Given the description of an element on the screen output the (x, y) to click on. 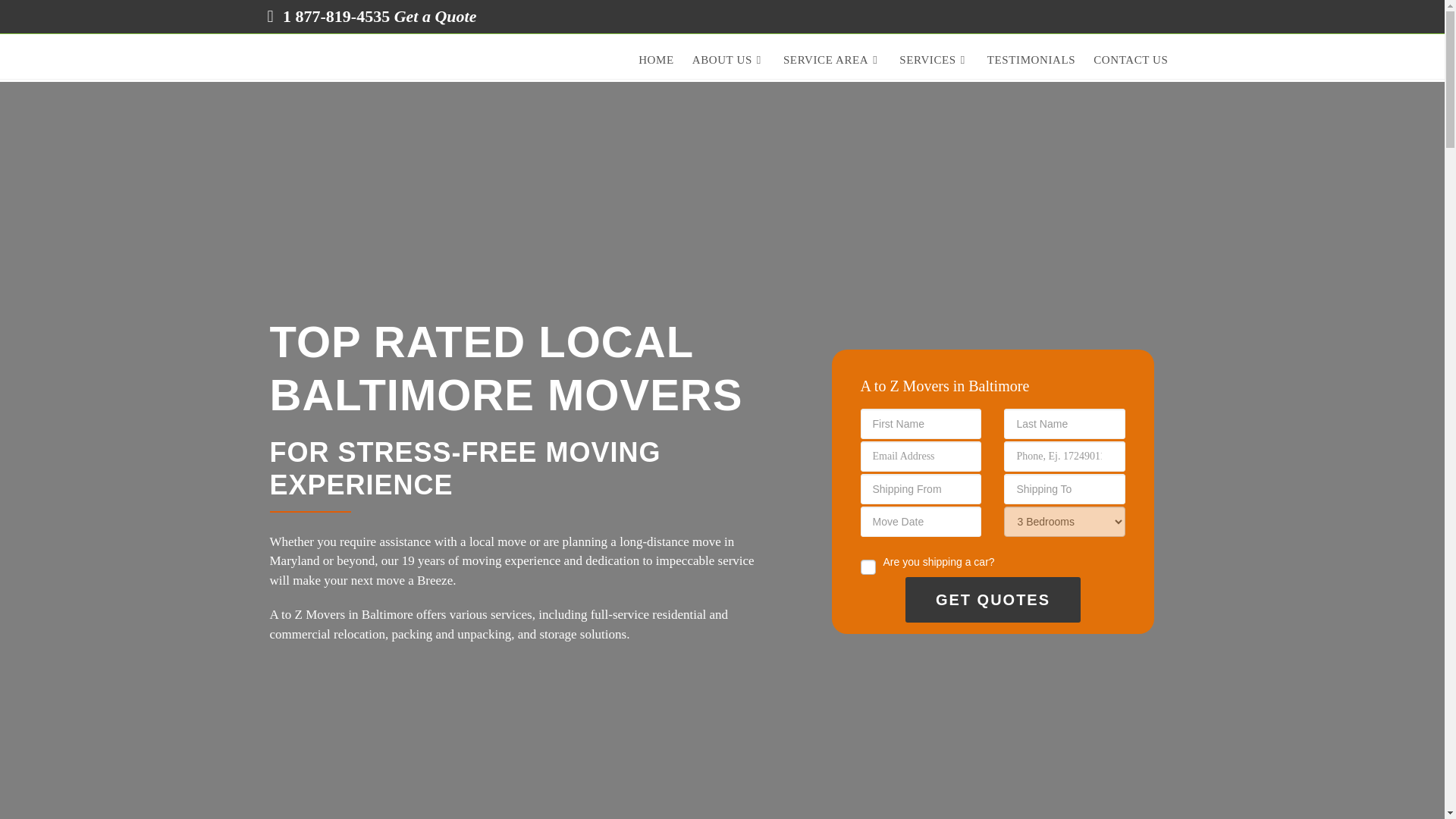
CONTACT US (1130, 59)
HOME (655, 59)
TESTIMONIALS (1031, 59)
SERVICE AREA (831, 59)
ABOUT US (728, 59)
SERVICES (933, 59)
Get Quotes (992, 598)
